Given the description of an element on the screen output the (x, y) to click on. 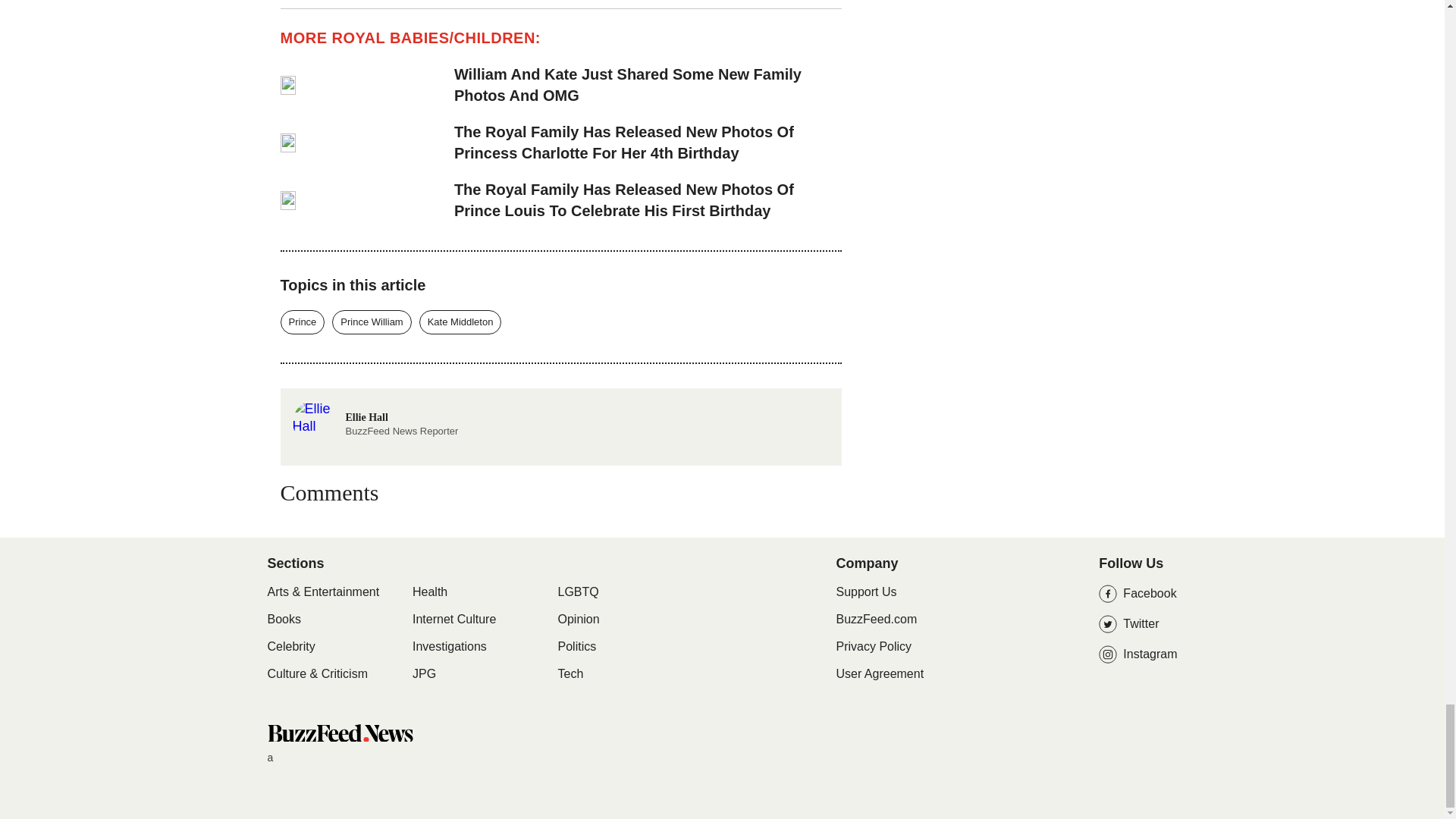
Celebrity (290, 646)
BuzzFeed News Home (339, 732)
Health (429, 591)
Prince William (375, 408)
Investigations (370, 322)
Kate Middleton (449, 646)
Books (460, 322)
William And Kate Just Shared Some New Family Photos And OMG (282, 619)
Internet Culture (647, 84)
Prince (454, 619)
